Given the description of an element on the screen output the (x, y) to click on. 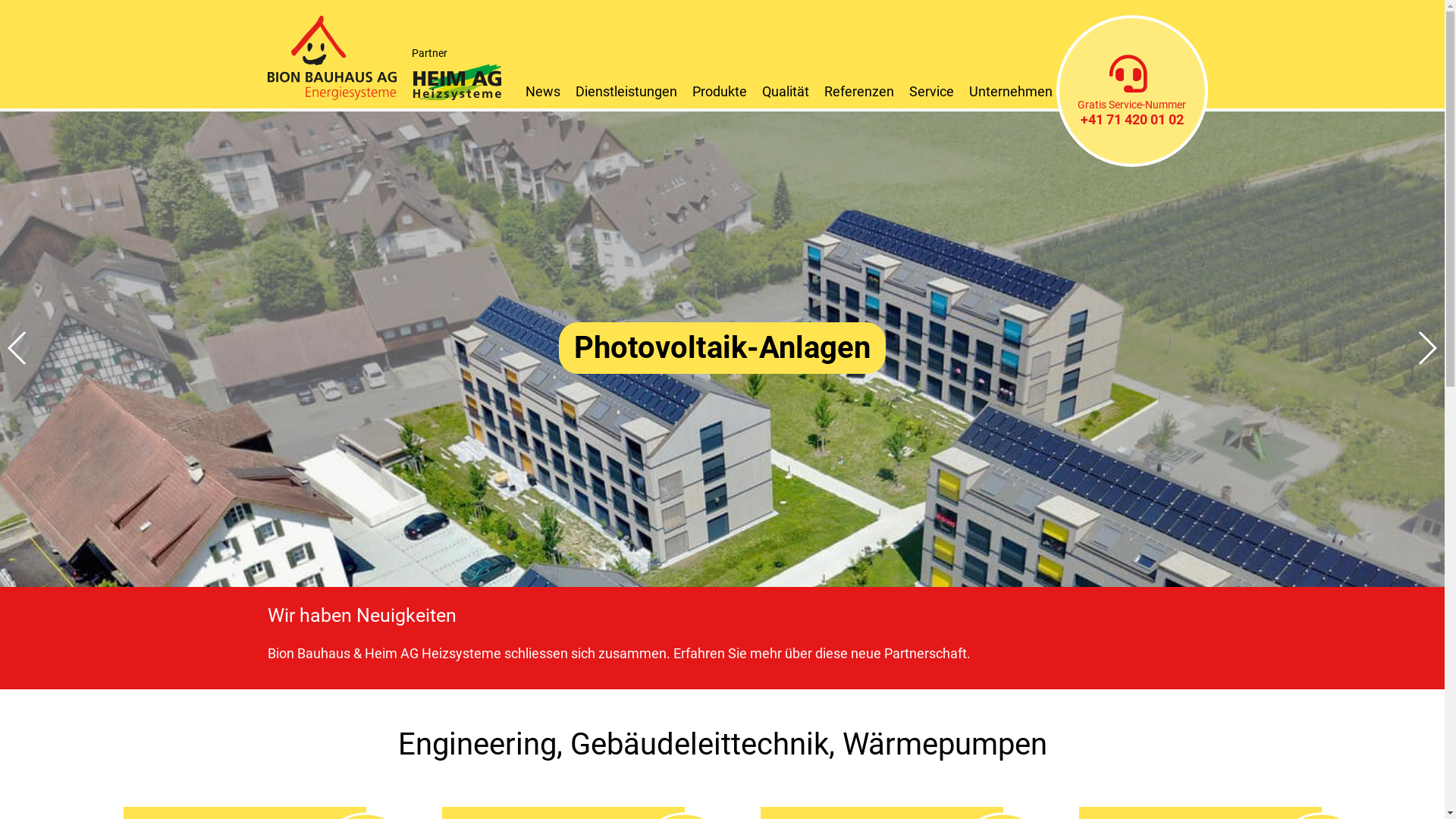
Partner Element type: text (456, 74)
Unternehmen Element type: text (1010, 91)
Produkte Element type: text (718, 91)
Referenzen Element type: text (857, 91)
Dienstleistungen Element type: text (625, 91)
News Element type: text (542, 91)
Service Element type: text (930, 91)
Gratis Service-Nummer
+41 71 420 01 02 Element type: text (1131, 90)
